Given the description of an element on the screen output the (x, y) to click on. 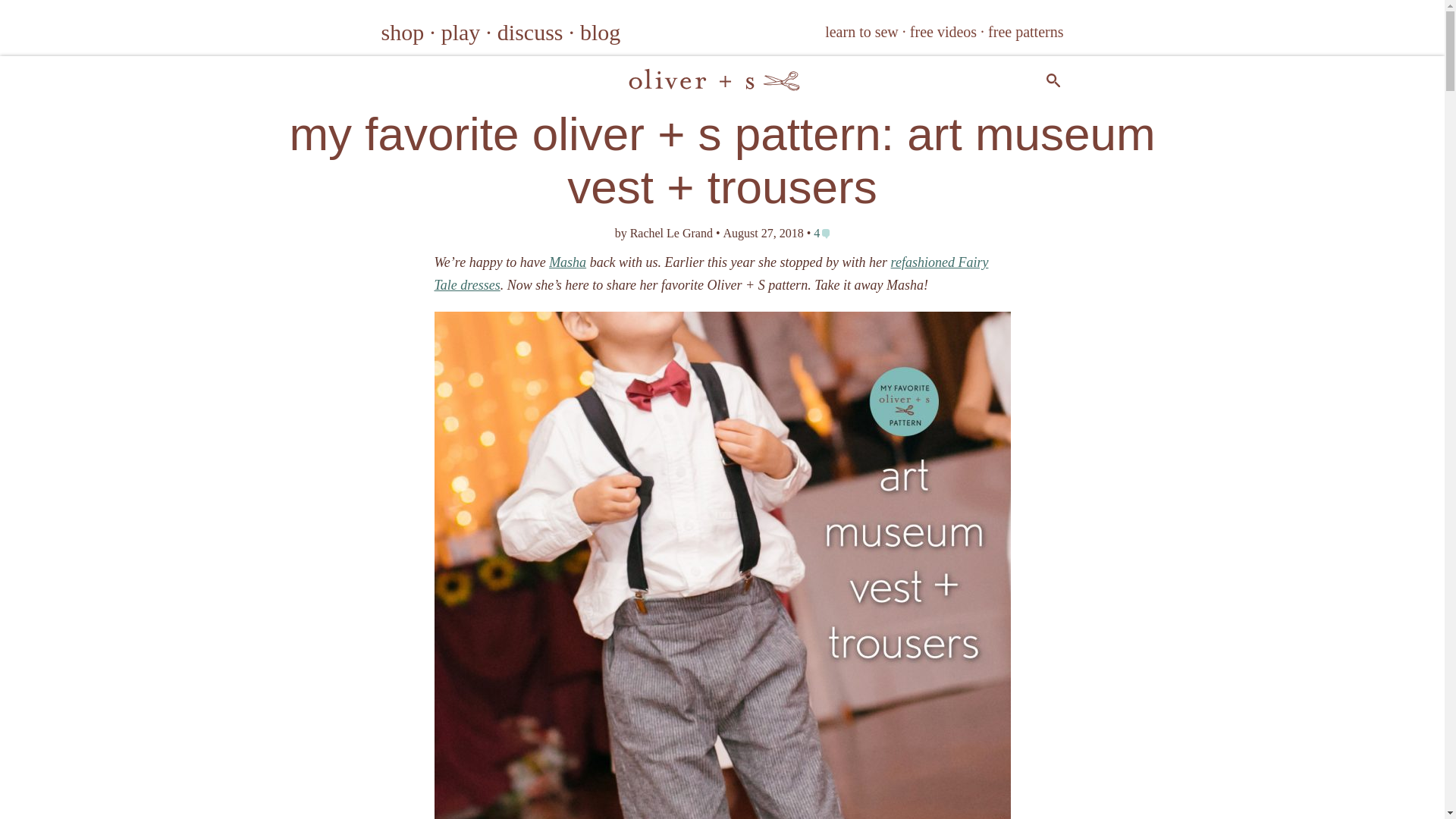
free videos (943, 31)
learn to sew (861, 31)
Masha (567, 262)
discuss (530, 32)
blog (599, 32)
play (460, 32)
shop (401, 32)
free patterns (1025, 31)
refashioned Fairy Tale dresses (710, 273)
